Given the description of an element on the screen output the (x, y) to click on. 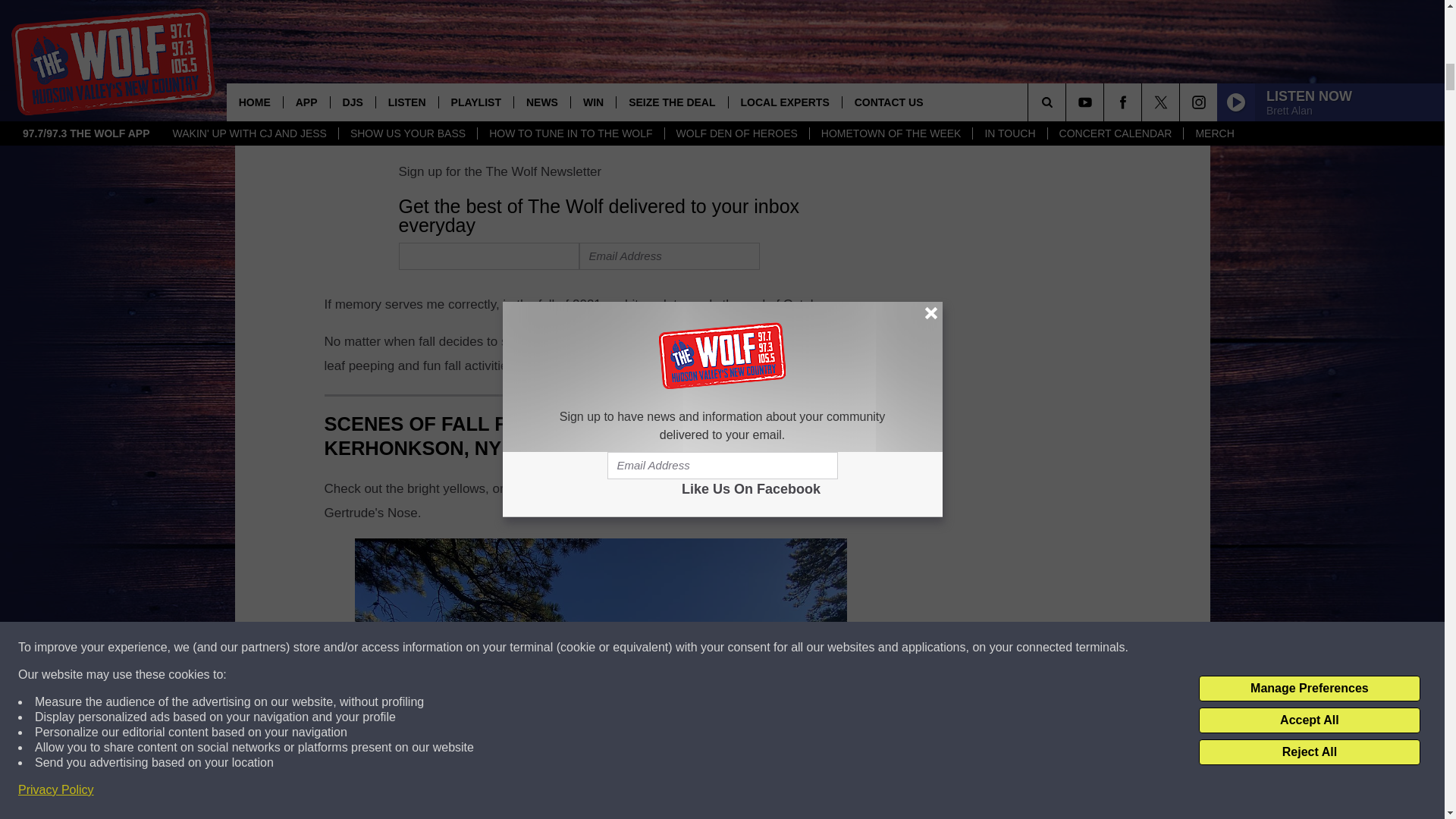
Email Address (669, 256)
